Given the description of an element on the screen output the (x, y) to click on. 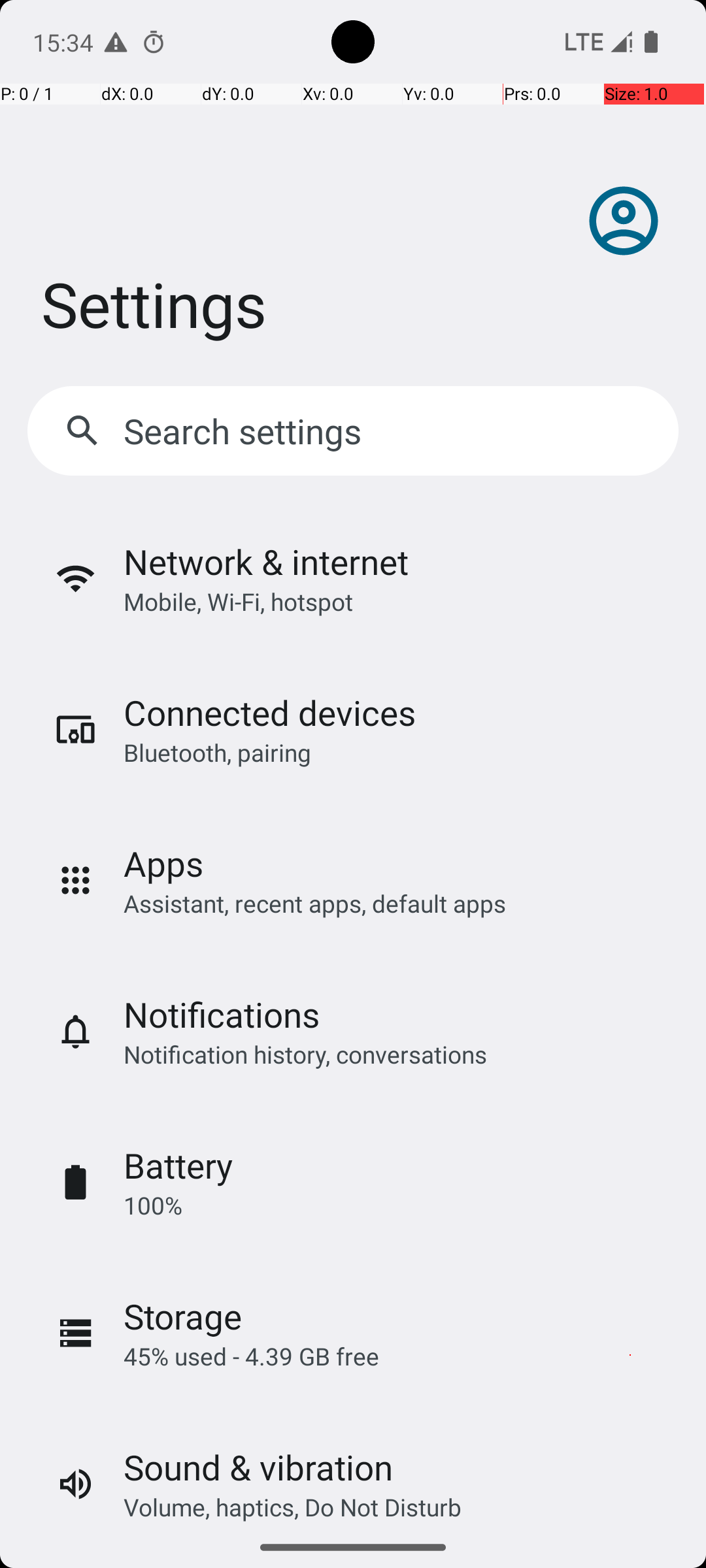
45% used - 4.39 GB free Element type: android.widget.TextView (251, 1355)
